Given the description of an element on the screen output the (x, y) to click on. 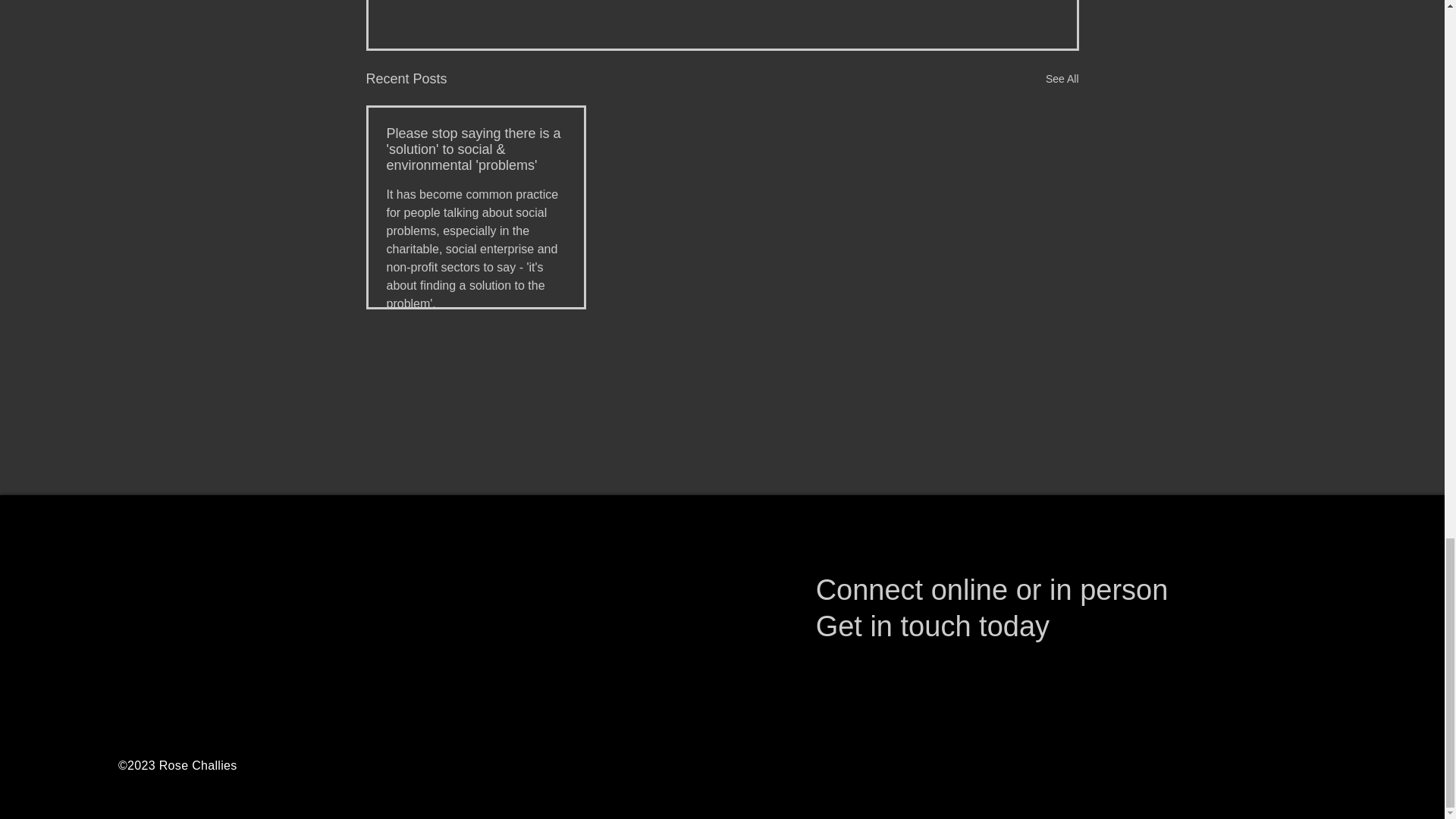
See All (1061, 78)
